Given the description of an element on the screen output the (x, y) to click on. 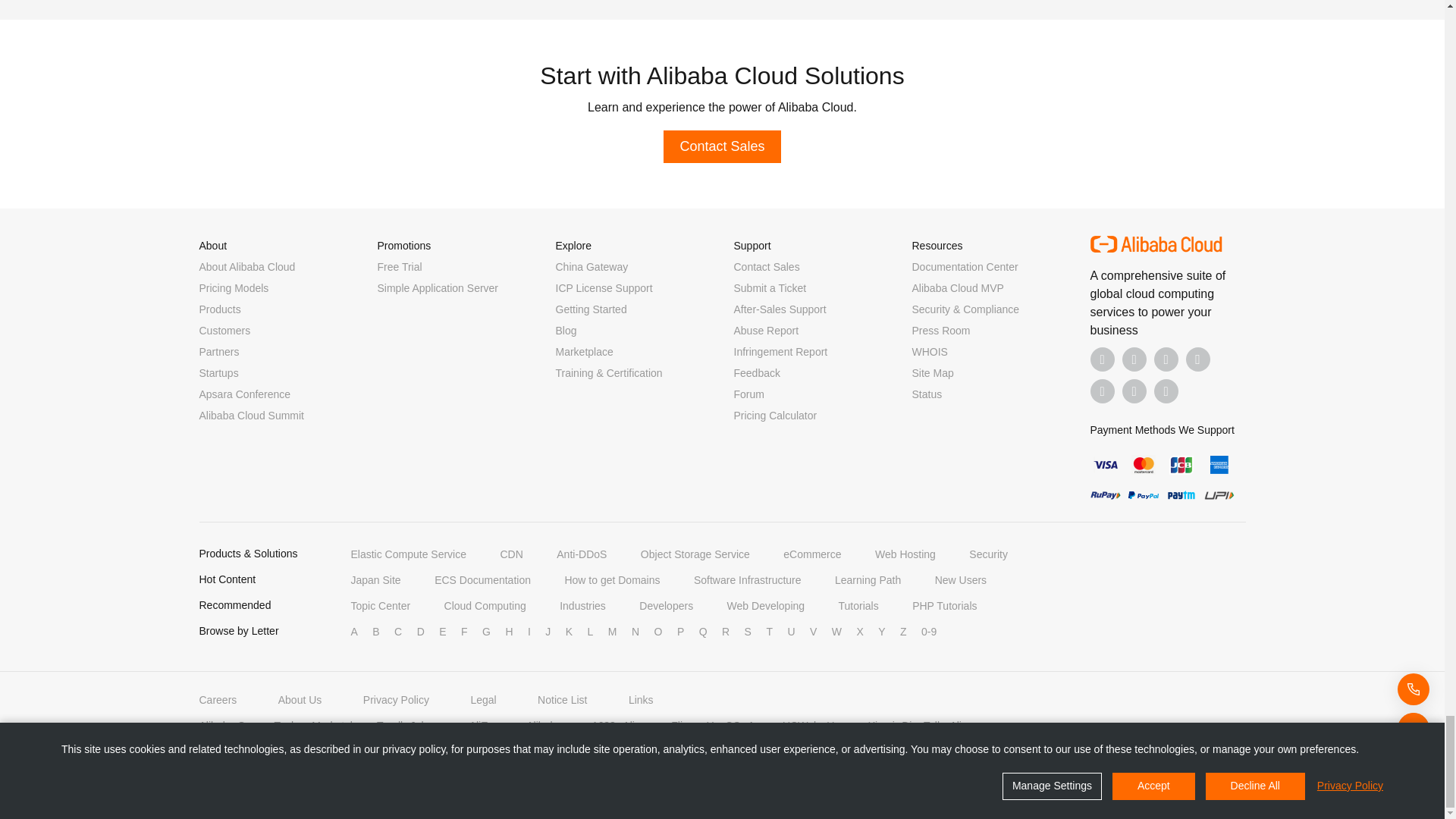
Twitter (1165, 359)
TikTok (1102, 391)
YouTube (1197, 359)
Linkedin (1134, 359)
Facebook (1102, 359)
Call Us Now (1165, 391)
